Given the description of an element on the screen output the (x, y) to click on. 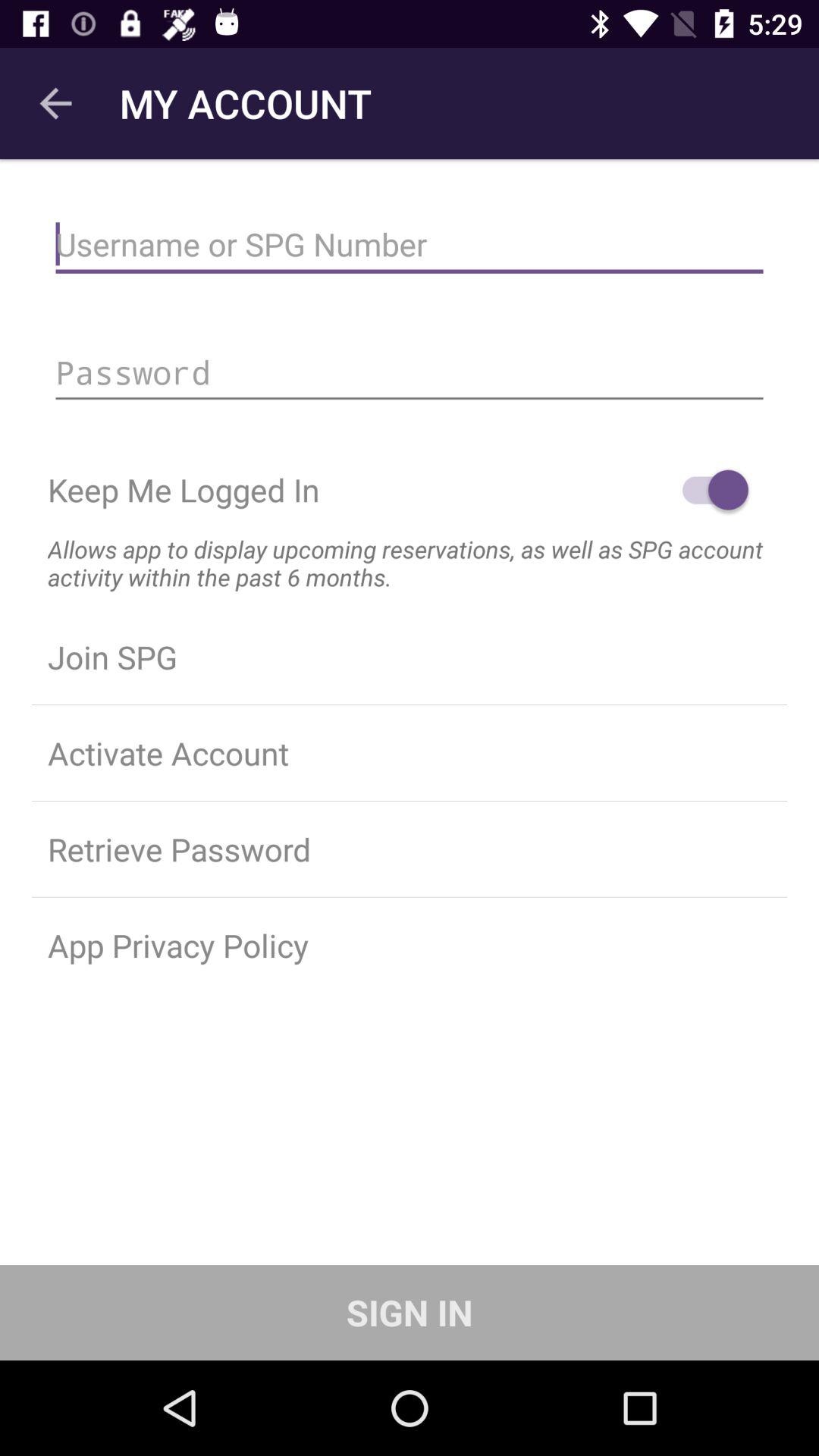
flip to the activate account icon (409, 752)
